Given the description of an element on the screen output the (x, y) to click on. 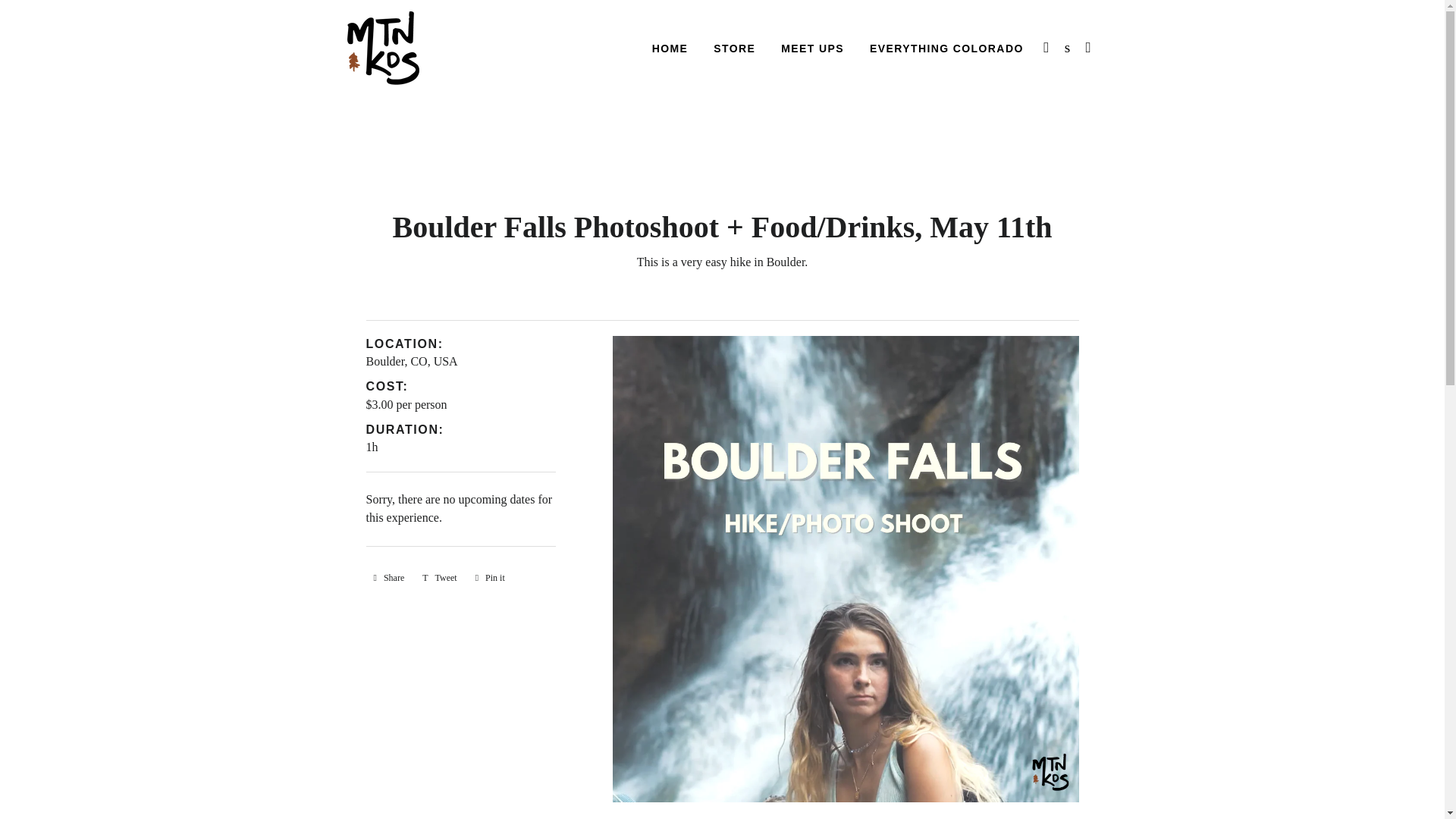
Pin on Pinterest (489, 577)
EVERYTHING COLORADO (947, 48)
Share on Facebook (388, 577)
HOME (670, 48)
Tweet on Twitter (439, 577)
Boulder, CO, USA (439, 577)
STORE (411, 360)
MEET UPS (388, 577)
